Given the description of an element on the screen output the (x, y) to click on. 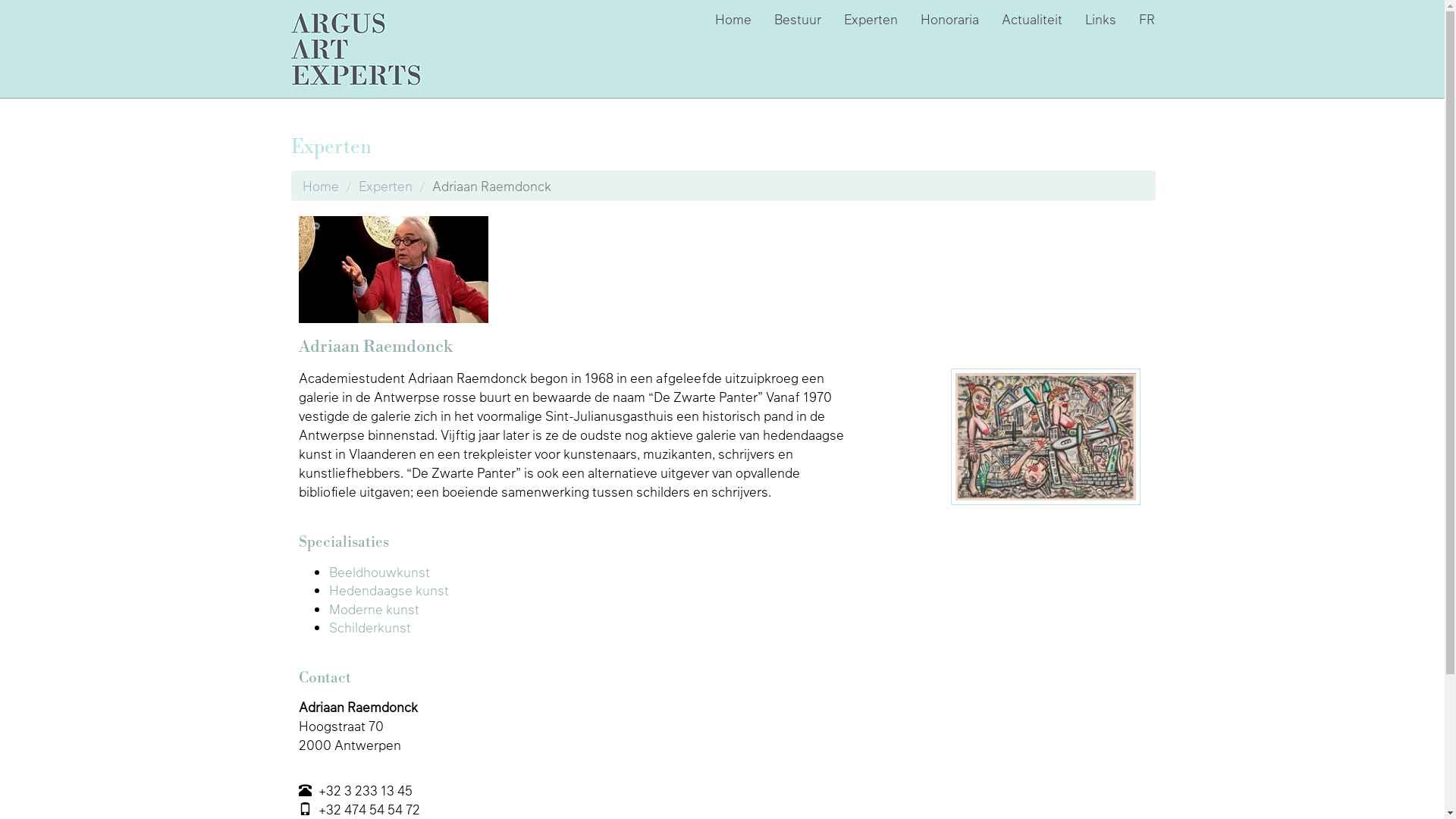
Hedendaagse kunst Element type: text (388, 589)
Actualiteit Element type: text (1031, 18)
Bestuur Element type: text (797, 18)
Honoraria Element type: text (948, 18)
Home Element type: text (732, 18)
FR Element type: text (1145, 18)
Schilderkunst Element type: text (370, 627)
Home Element type: text (319, 184)
Experten Element type: text (870, 18)
Experten Element type: text (384, 184)
Beeldhouwkunst Element type: text (379, 571)
Links Element type: text (1100, 18)
Moderne kunst Element type: text (374, 608)
